Given the description of an element on the screen output the (x, y) to click on. 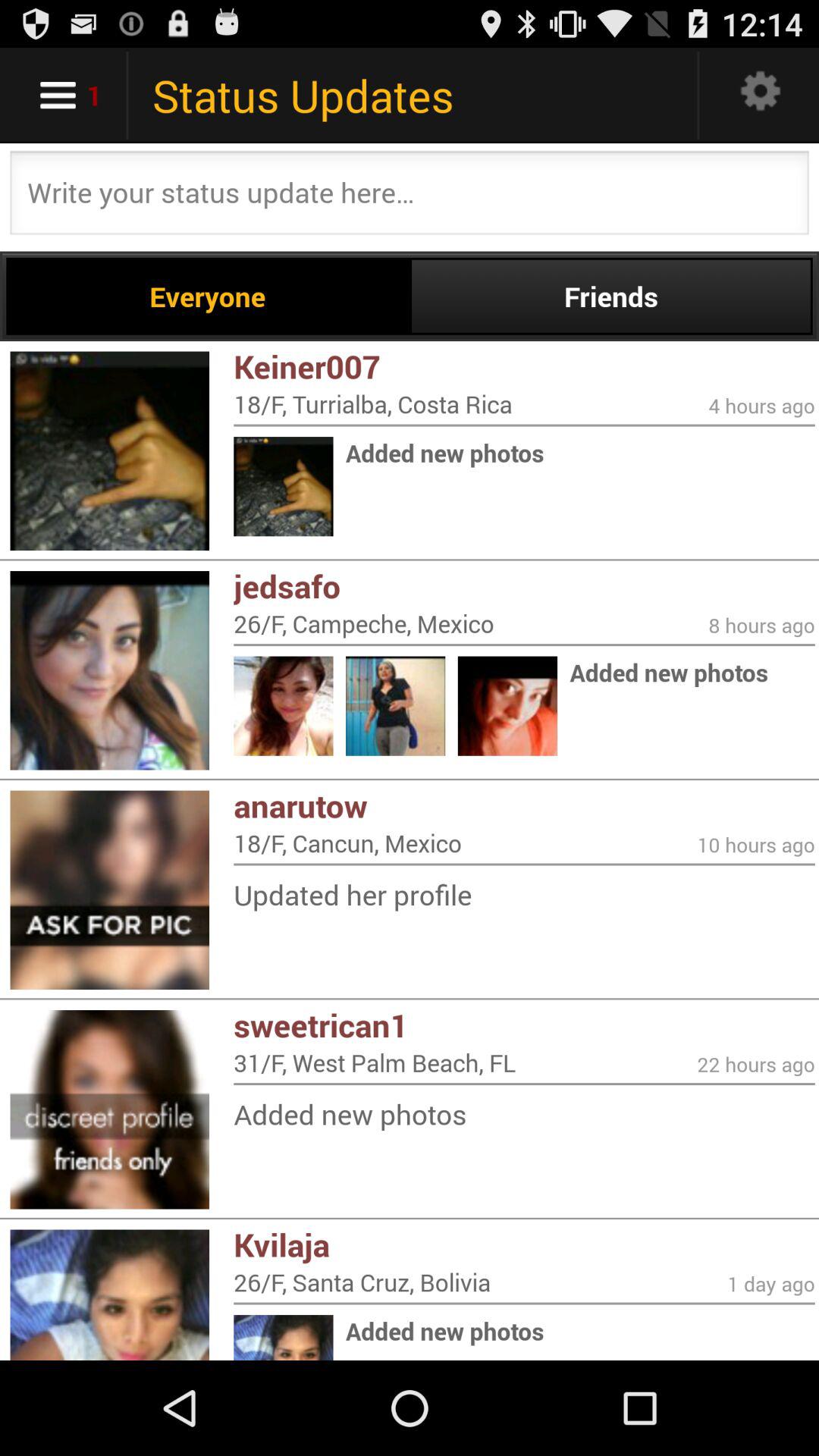
press the item next to the everyone icon (610, 295)
